Given the description of an element on the screen output the (x, y) to click on. 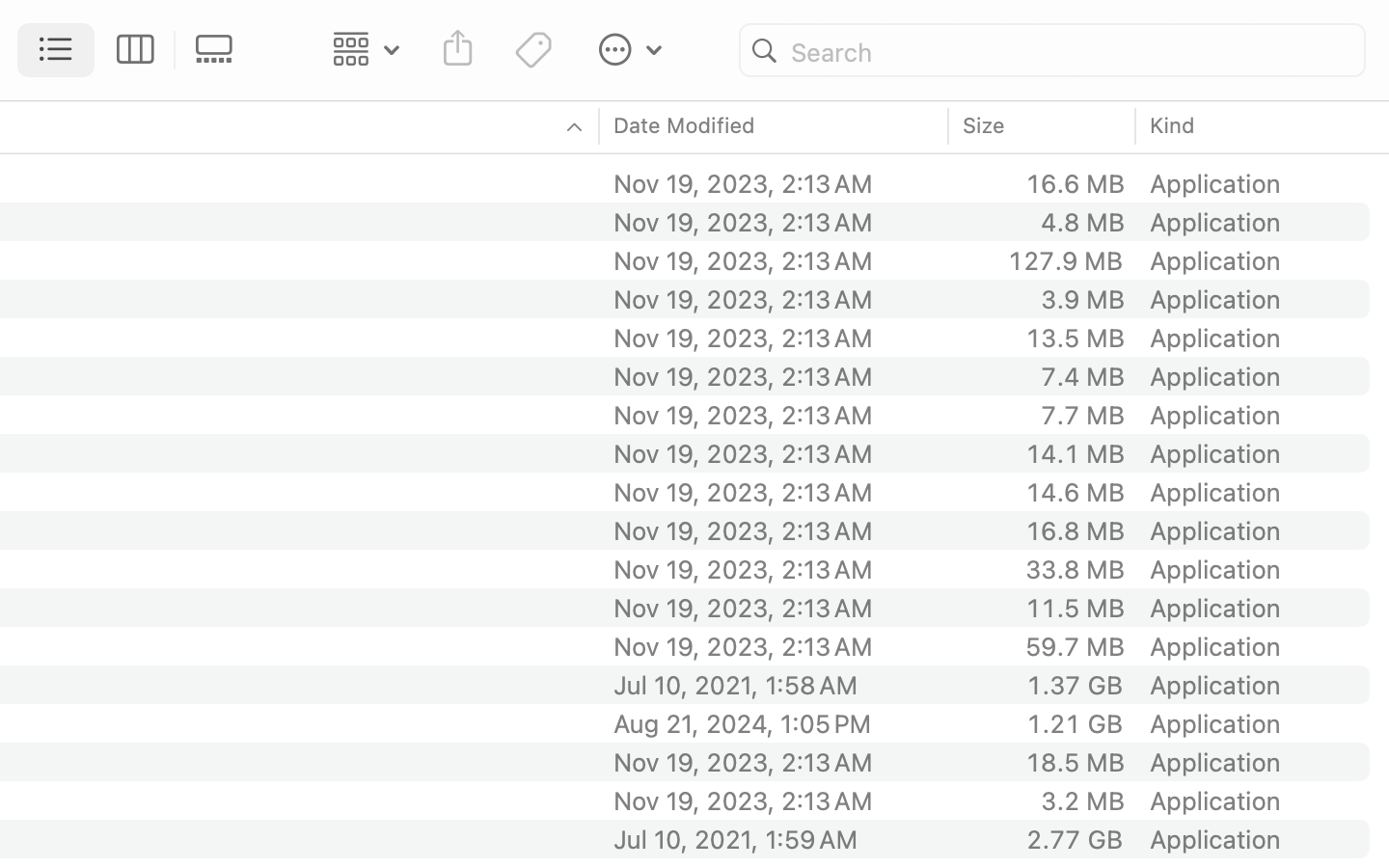
127.9 MB Element type: AXStaticText (1064, 259)
3.9 MB Element type: AXStaticText (1081, 298)
0 Element type: AXRadioButton (219, 49)
Application Element type: AXStaticText (1218, 645)
Aug 21, 2024, 1:05 PM Element type: AXStaticText (774, 722)
